Given the description of an element on the screen output the (x, y) to click on. 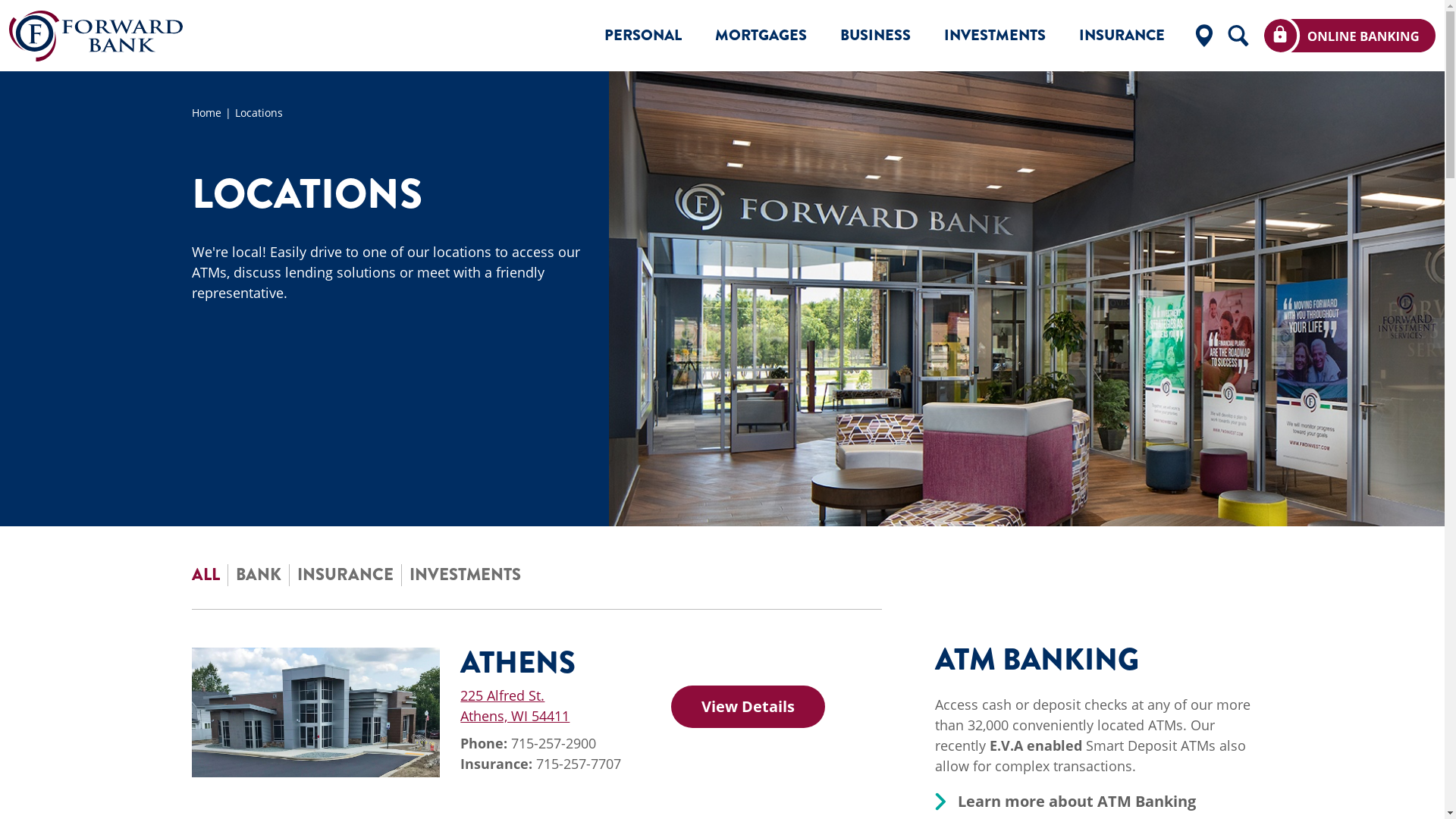
View Details
for the Athens branch at 225 Alfred St. Element type: text (748, 706)
PERSONAL Element type: text (642, 36)
Home Element type: text (212, 112)
ALL Element type: text (205, 575)
BUSINESS Element type: text (875, 36)
MORTGAGES Element type: text (760, 36)
Learn more about ATM Banking Element type: text (1075, 801)
get directions to
225 Alfred St.
Athens, WI 54411 Element type: text (514, 705)
BANK Element type: text (257, 575)
INVESTMENTS Element type: text (464, 575)
INSURANCE Element type: text (345, 575)
INSURANCE Element type: text (1121, 36)
INVESTMENTS Element type: text (994, 36)
